Given the description of an element on the screen output the (x, y) to click on. 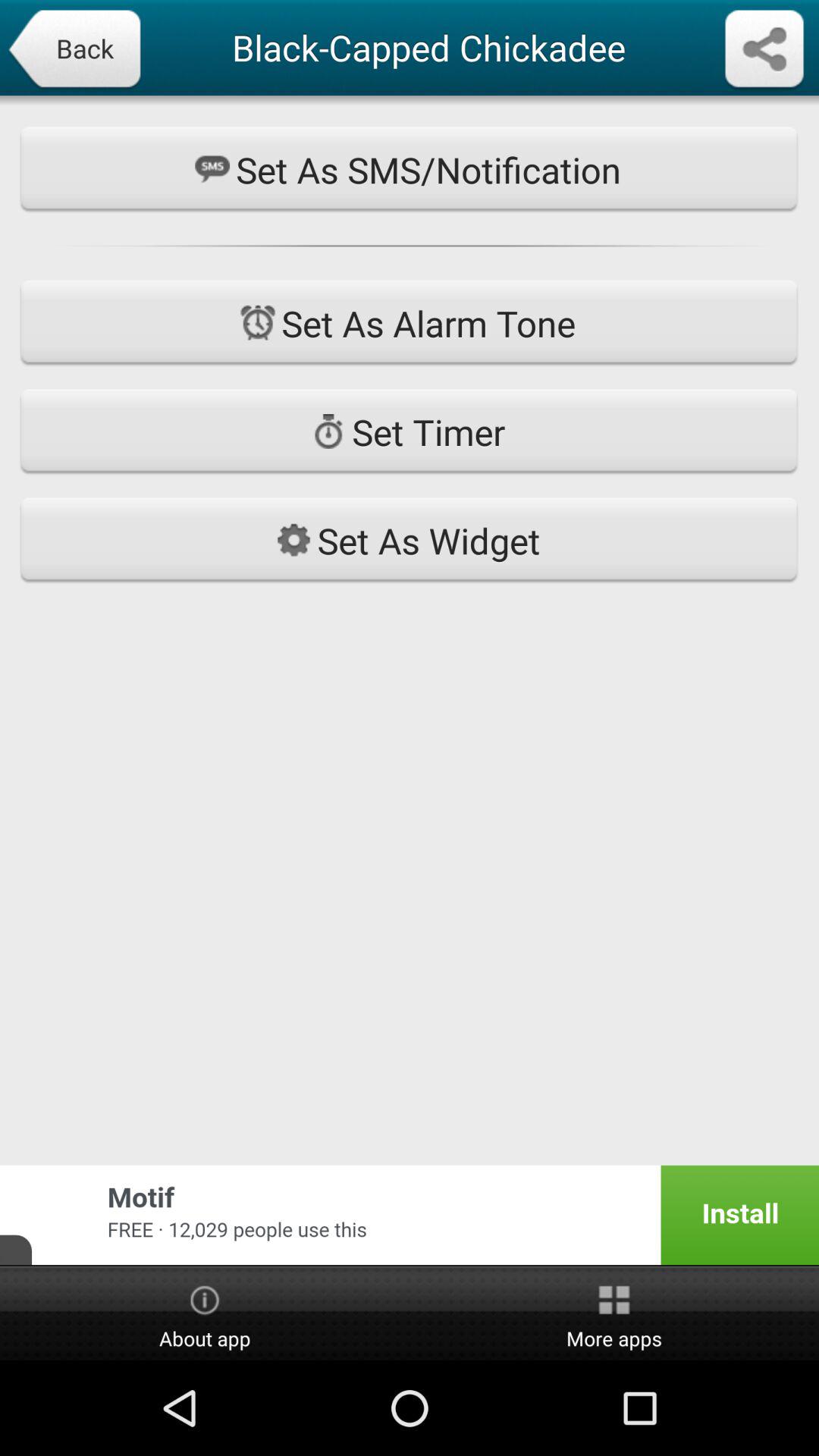
select the button to the right of the about app icon (614, 1314)
